Given the description of an element on the screen output the (x, y) to click on. 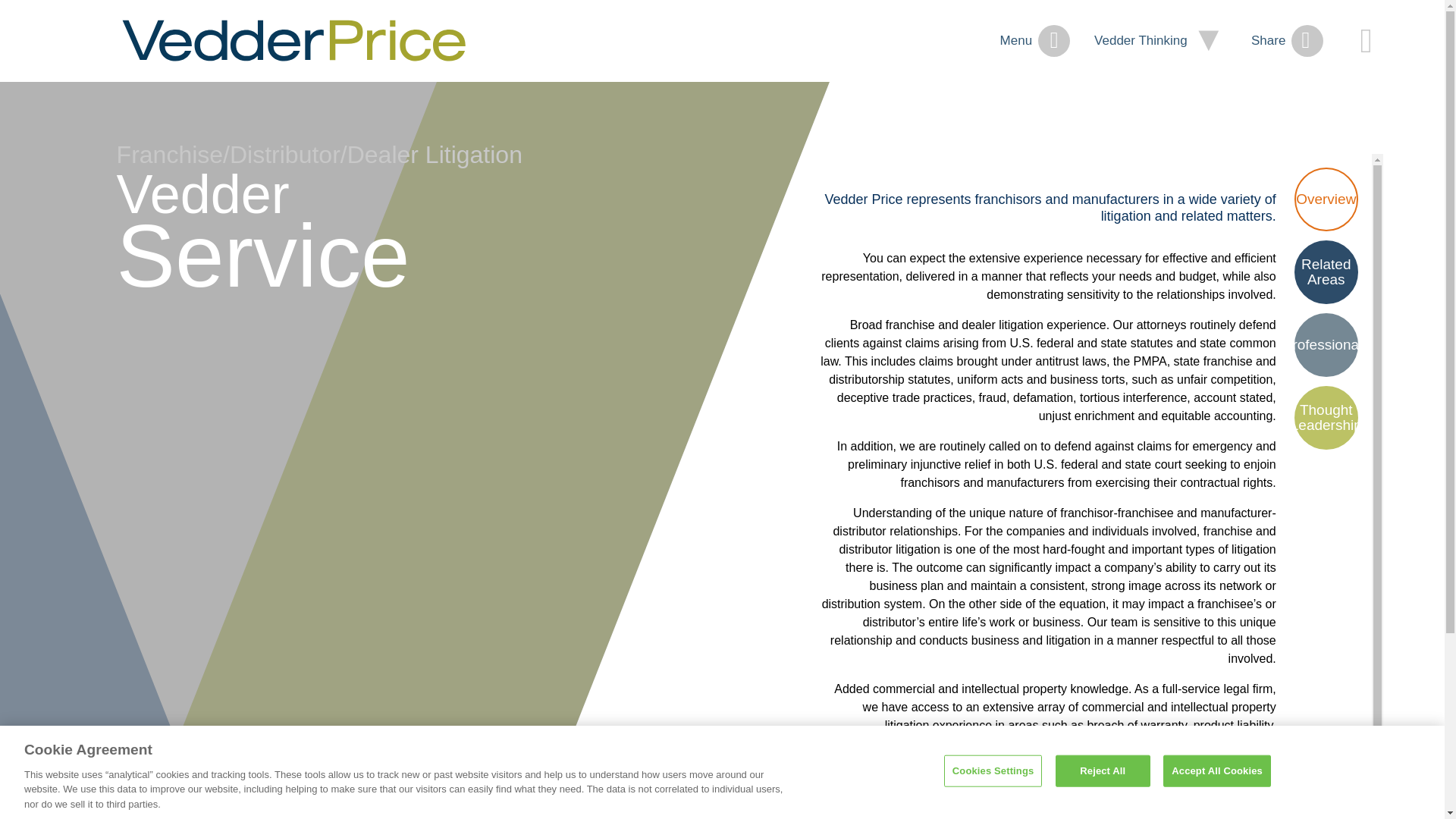
Vedder Thinking (1160, 40)
Share (1286, 40)
Menu (1035, 40)
